Given the description of an element on the screen output the (x, y) to click on. 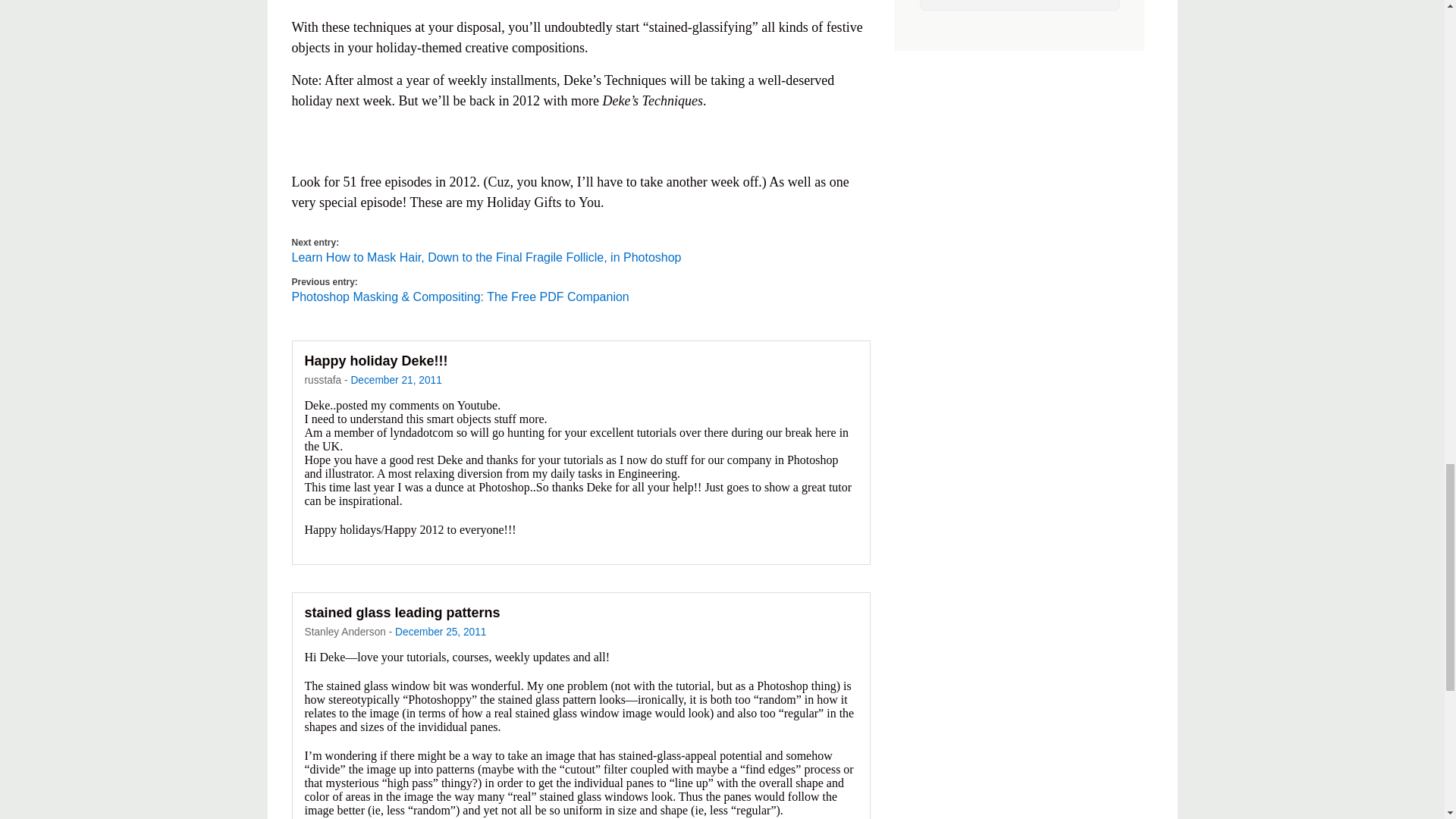
December 25, 2011 (440, 632)
More from the Blog (1019, 5)
December 21, 2011 (395, 379)
